Given the description of an element on the screen output the (x, y) to click on. 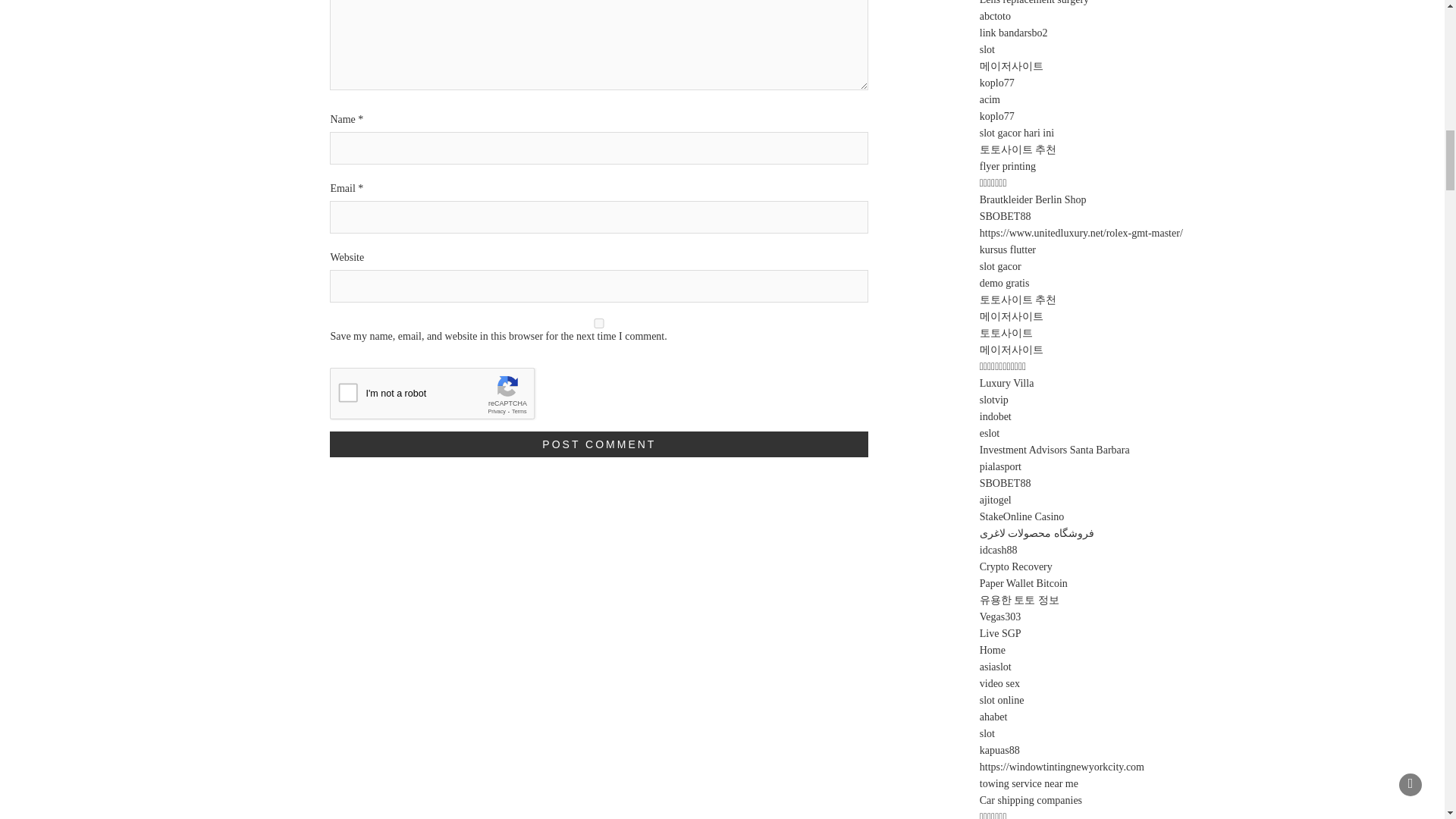
Post Comment (598, 444)
Post Comment (598, 444)
yes (598, 323)
reCAPTCHA (445, 395)
